Given the description of an element on the screen output the (x, y) to click on. 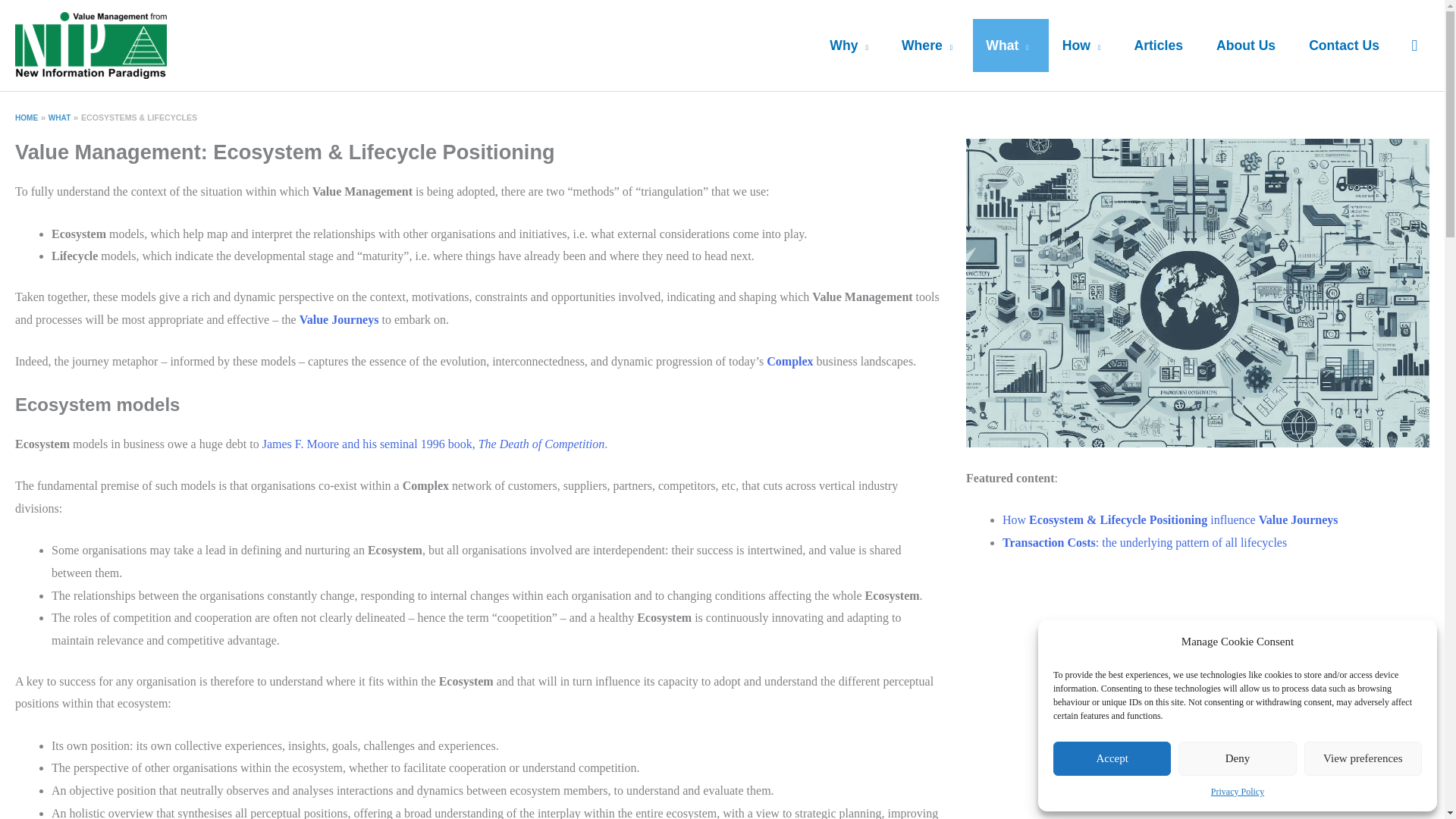
Where (930, 45)
Why (852, 45)
View preferences (1363, 758)
Deny (1236, 758)
Accept (1111, 758)
How (1084, 45)
Privacy Policy (1237, 791)
What (1010, 45)
